Given the description of an element on the screen output the (x, y) to click on. 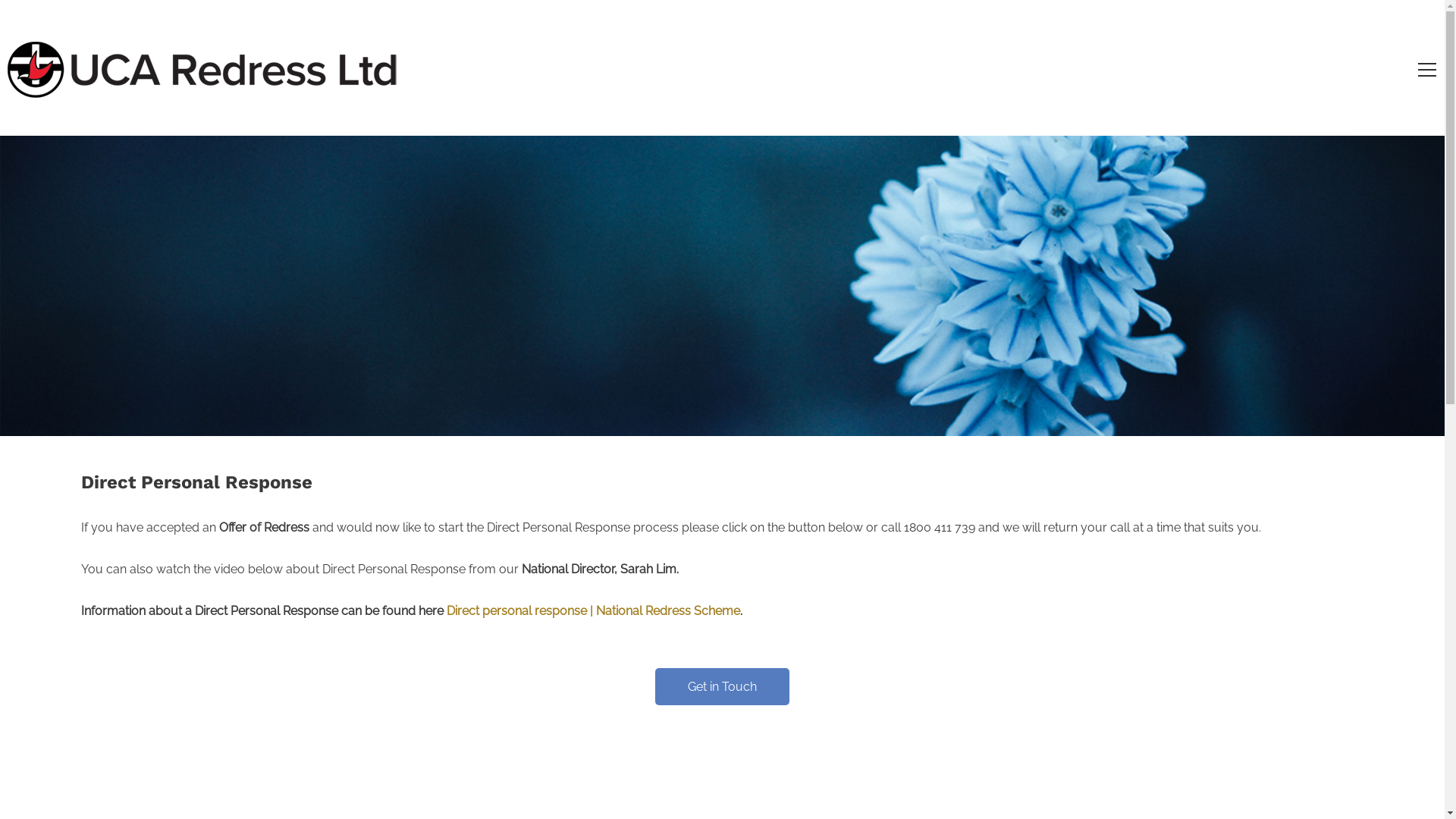
Direct personal response | National Redress Scheme Element type: text (593, 610)
Get in Touch Element type: text (722, 686)
UCA-Redress-Ltd Element type: hover (206, 70)
